Given the description of an element on the screen output the (x, y) to click on. 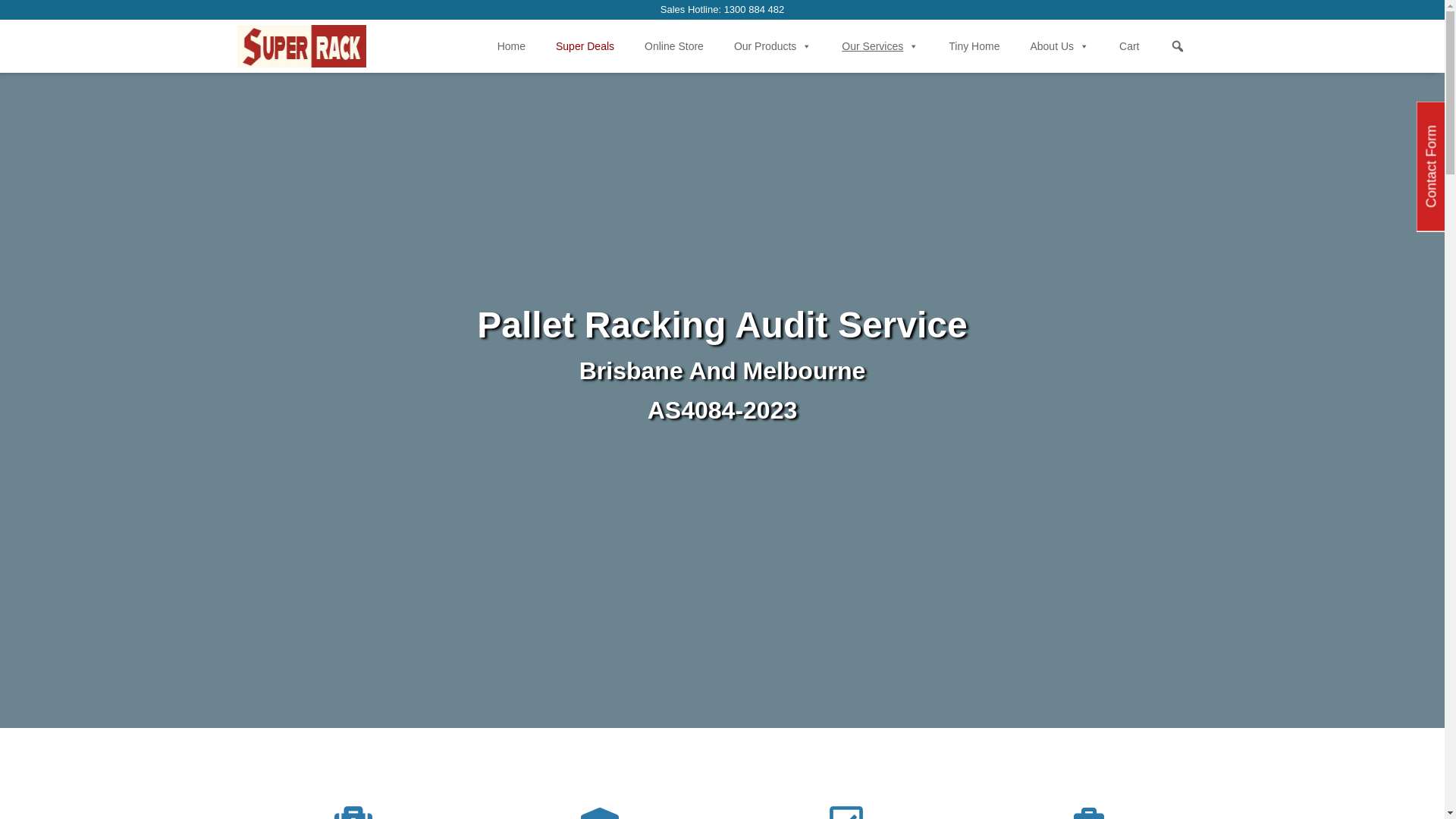
Super Deals (584, 45)
Our Products (772, 45)
Tiny Home (973, 45)
Online Store (674, 45)
Sales Hotline: 1300 884 482 (722, 9)
Our Services (880, 45)
About Us (1059, 45)
